Given the description of an element on the screen output the (x, y) to click on. 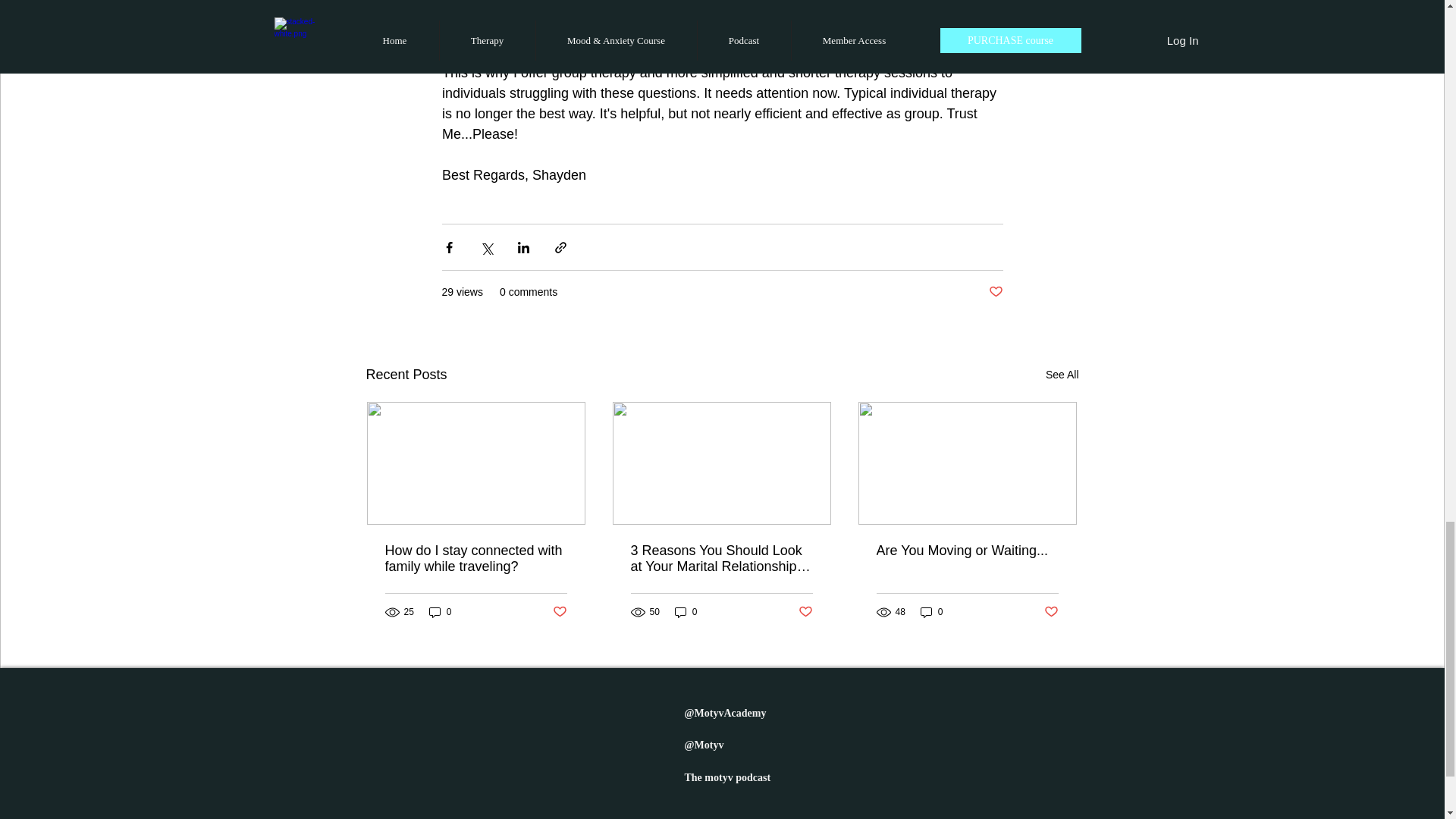
Post not marked as liked (558, 611)
Post not marked as liked (804, 611)
Are You Moving or Waiting... (967, 550)
0 (685, 612)
How do I stay connected with family while traveling? (476, 558)
Post not marked as liked (1050, 611)
0 (931, 612)
0 (440, 612)
See All (1061, 374)
Post not marked as liked (995, 292)
